Given the description of an element on the screen output the (x, y) to click on. 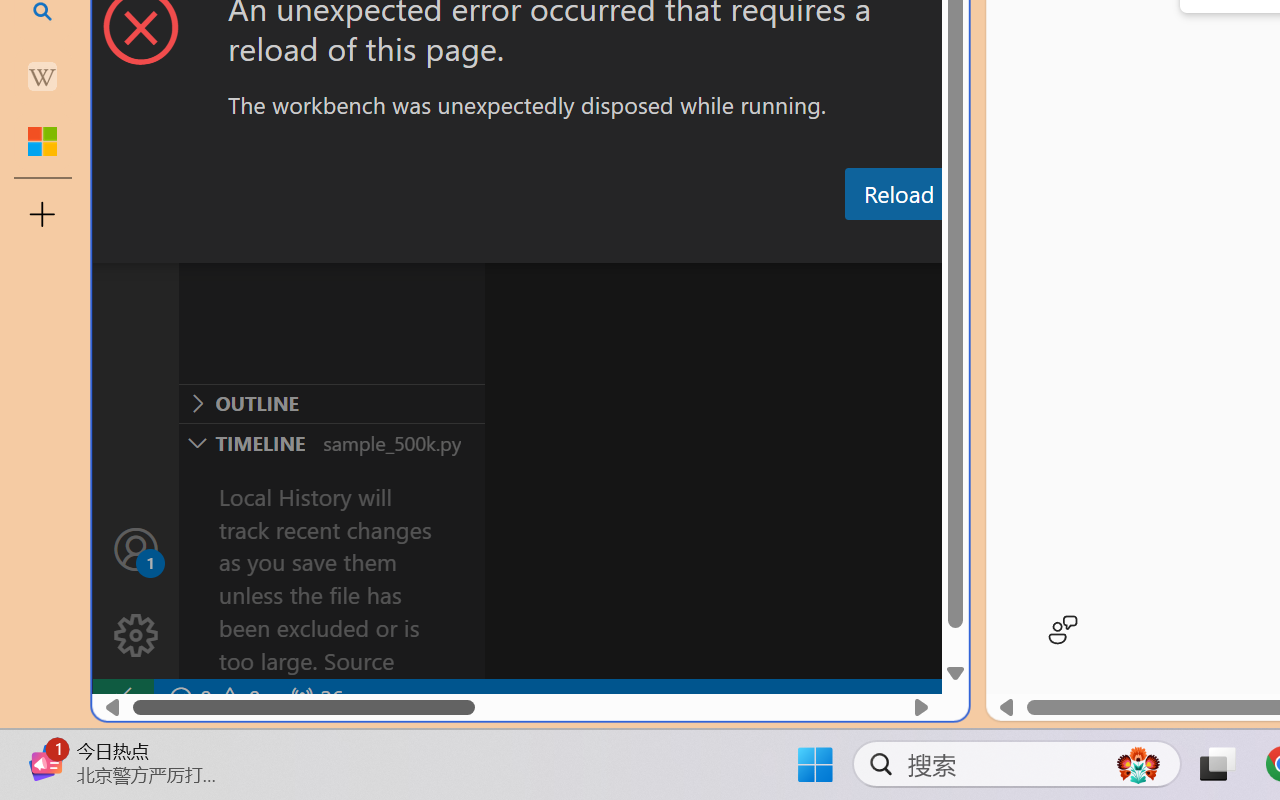
Timeline Section (331, 442)
remote (122, 698)
Problems (Ctrl+Shift+M) (567, 243)
Output (Ctrl+Shift+U) (696, 243)
